Given the description of an element on the screen output the (x, y) to click on. 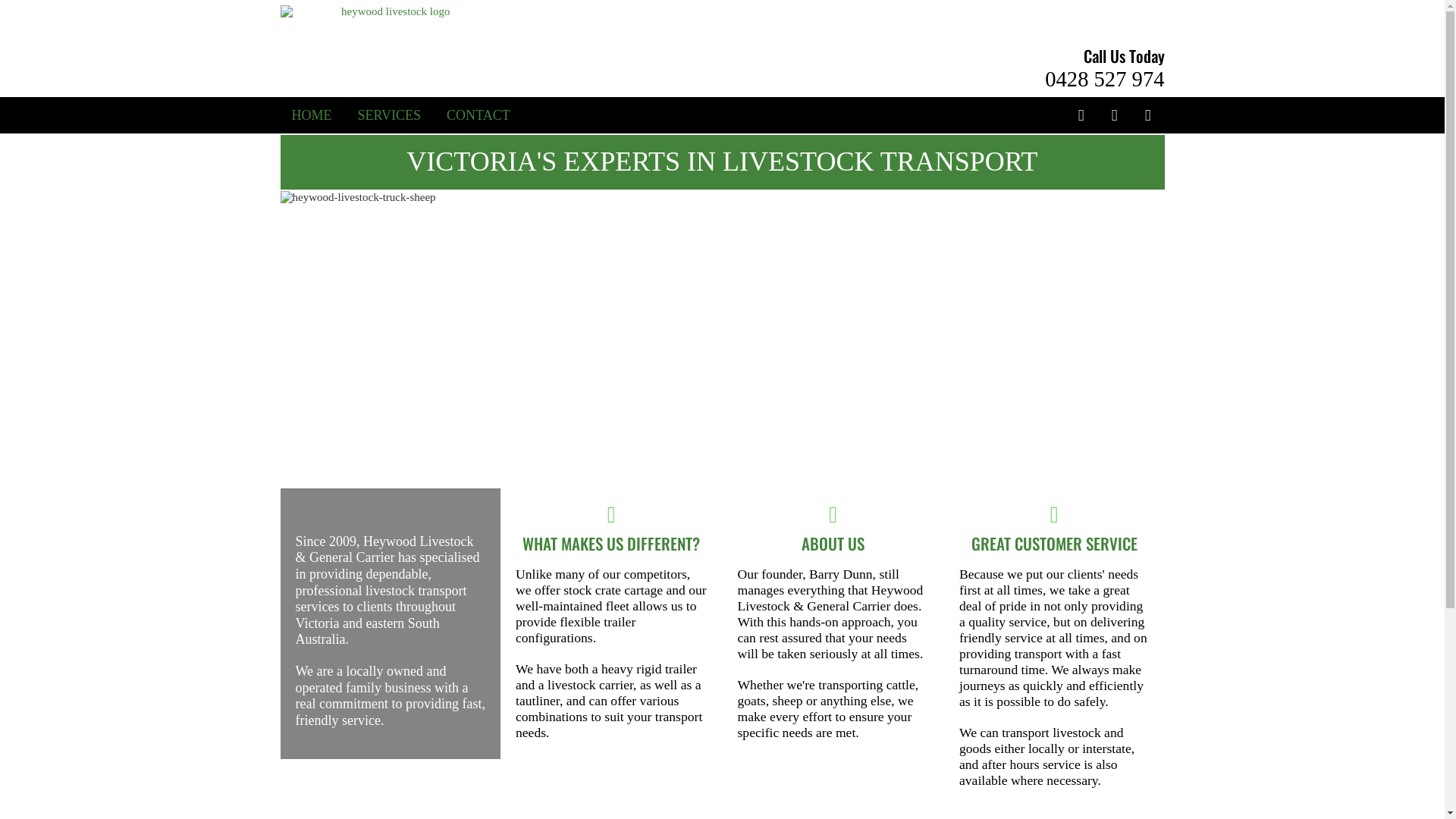
heywood livestock logo Element type: hover (389, 11)
CONTACT Element type: text (478, 115)
SERVICES Element type: text (389, 115)
heywood-livestock-truck-sheep Element type: hover (722, 338)
HOME Element type: text (311, 115)
0428 527 974 Element type: text (1104, 79)
